Given the description of an element on the screen output the (x, y) to click on. 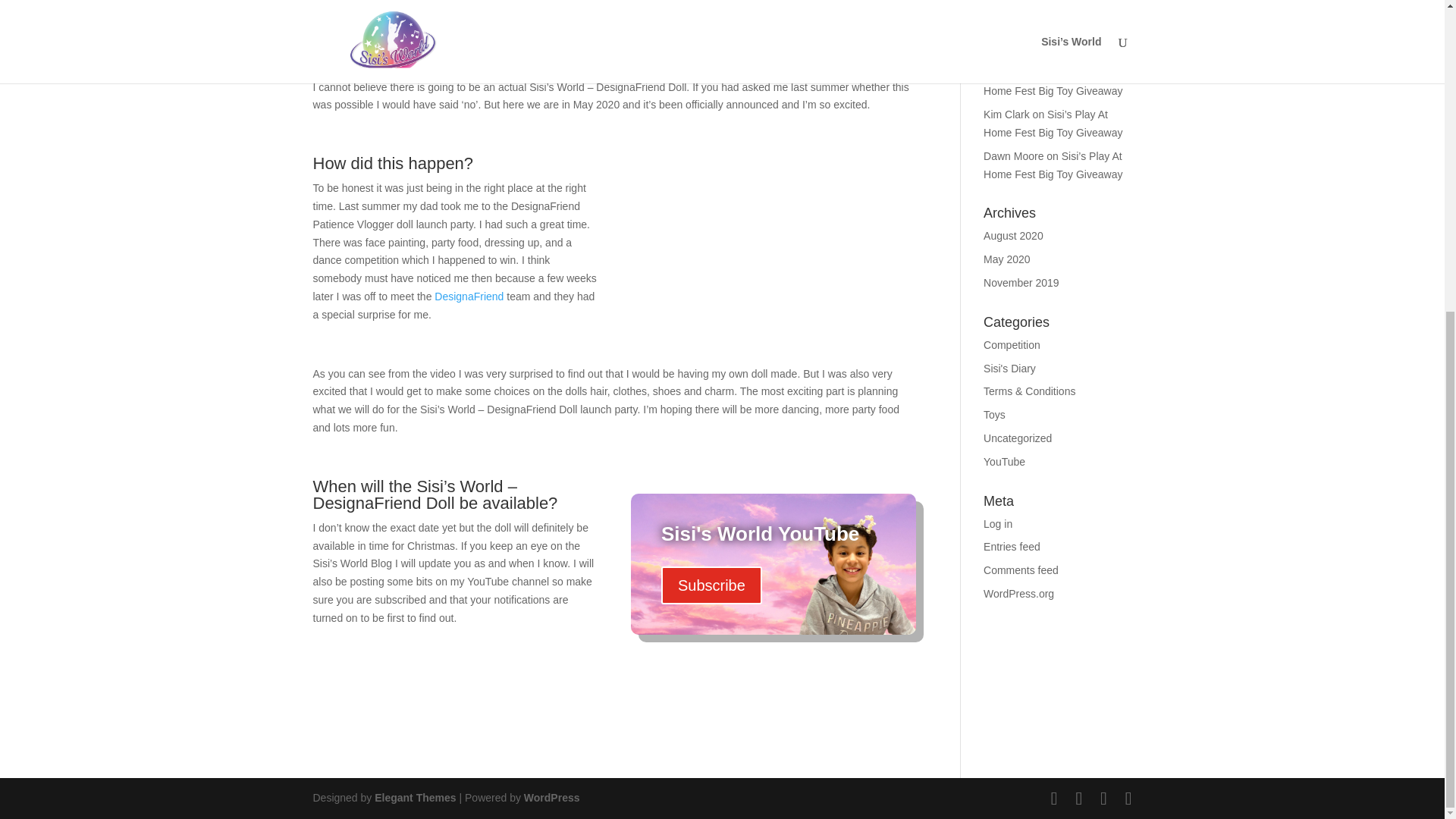
Comments feed (1021, 570)
May 2020 (1006, 259)
YouTube (1004, 461)
Elegant Themes (414, 797)
Log in (997, 523)
Competition (1012, 345)
August 2020 (1013, 235)
Premium WordPress Themes (414, 797)
Sisi's Diary (1009, 368)
WordPress (551, 797)
